Given the description of an element on the screen output the (x, y) to click on. 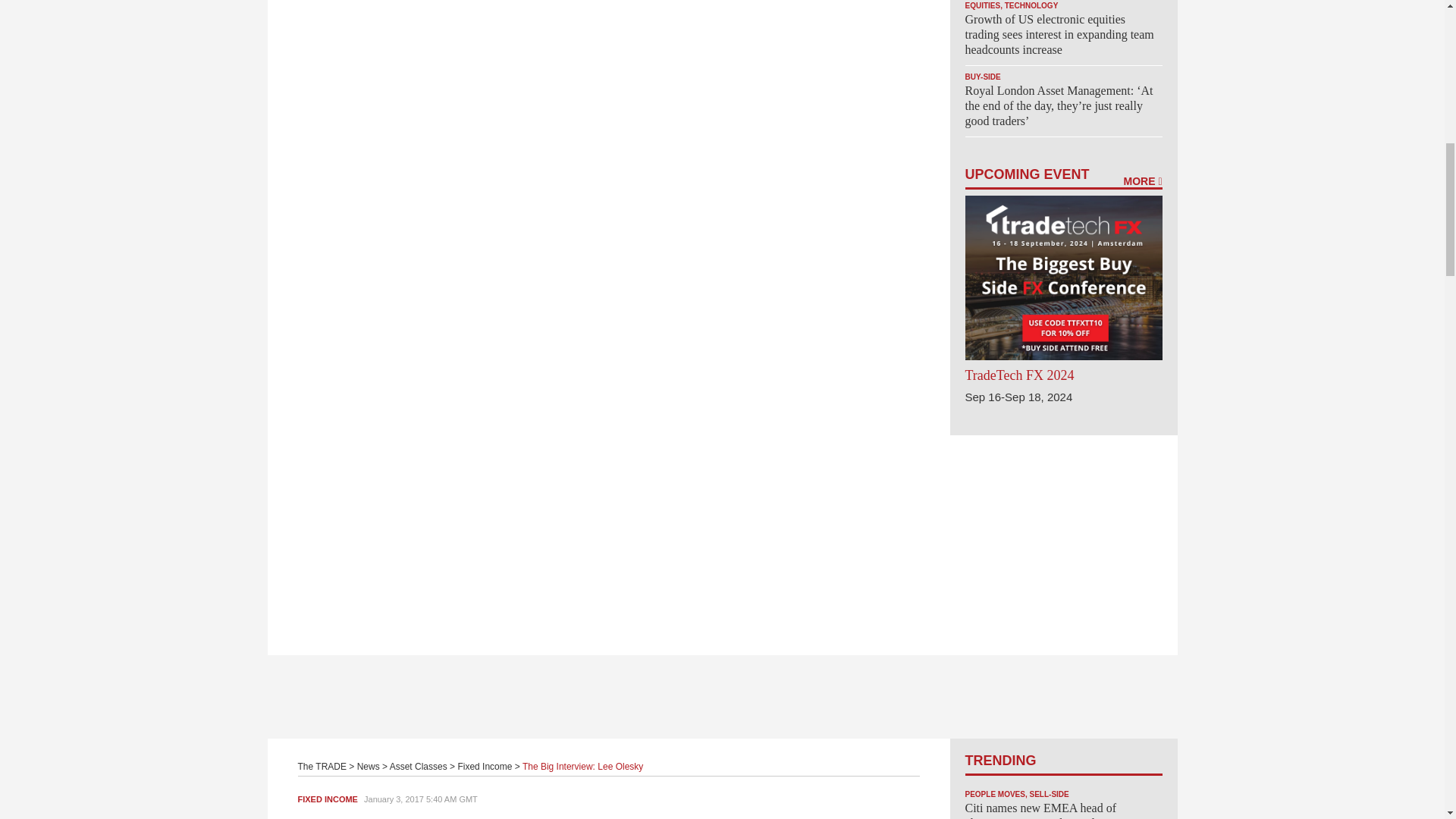
Go to The TRADE. (321, 766)
Go to the Asset Classes Category archives. (418, 766)
Go to the News Category archives. (368, 766)
Go to the Fixed Income Category archives. (484, 766)
3rd party ad content (1062, 529)
3rd party ad content (721, 696)
